Given the description of an element on the screen output the (x, y) to click on. 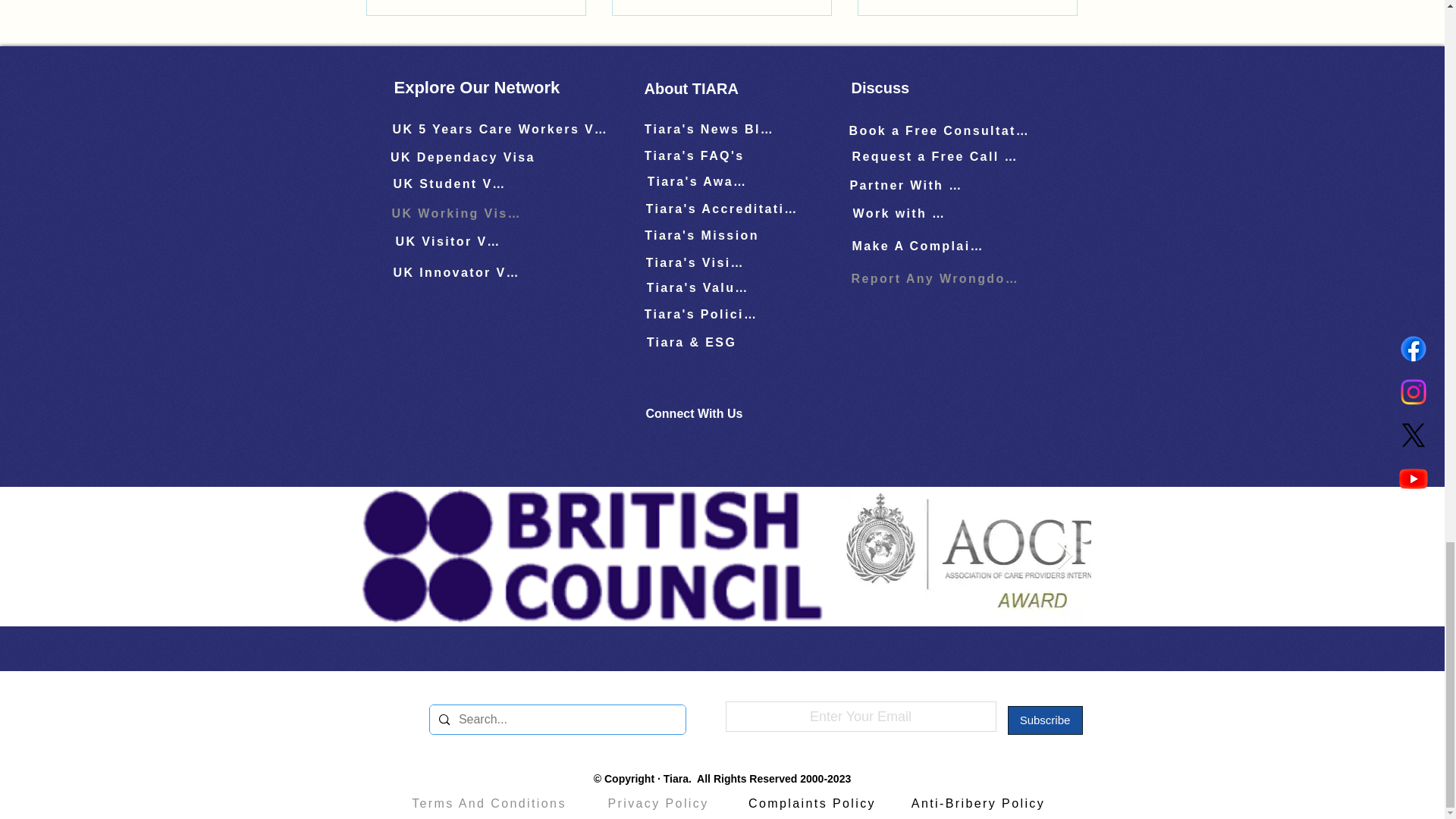
Enter Your Email (860, 716)
